Given the description of an element on the screen output the (x, y) to click on. 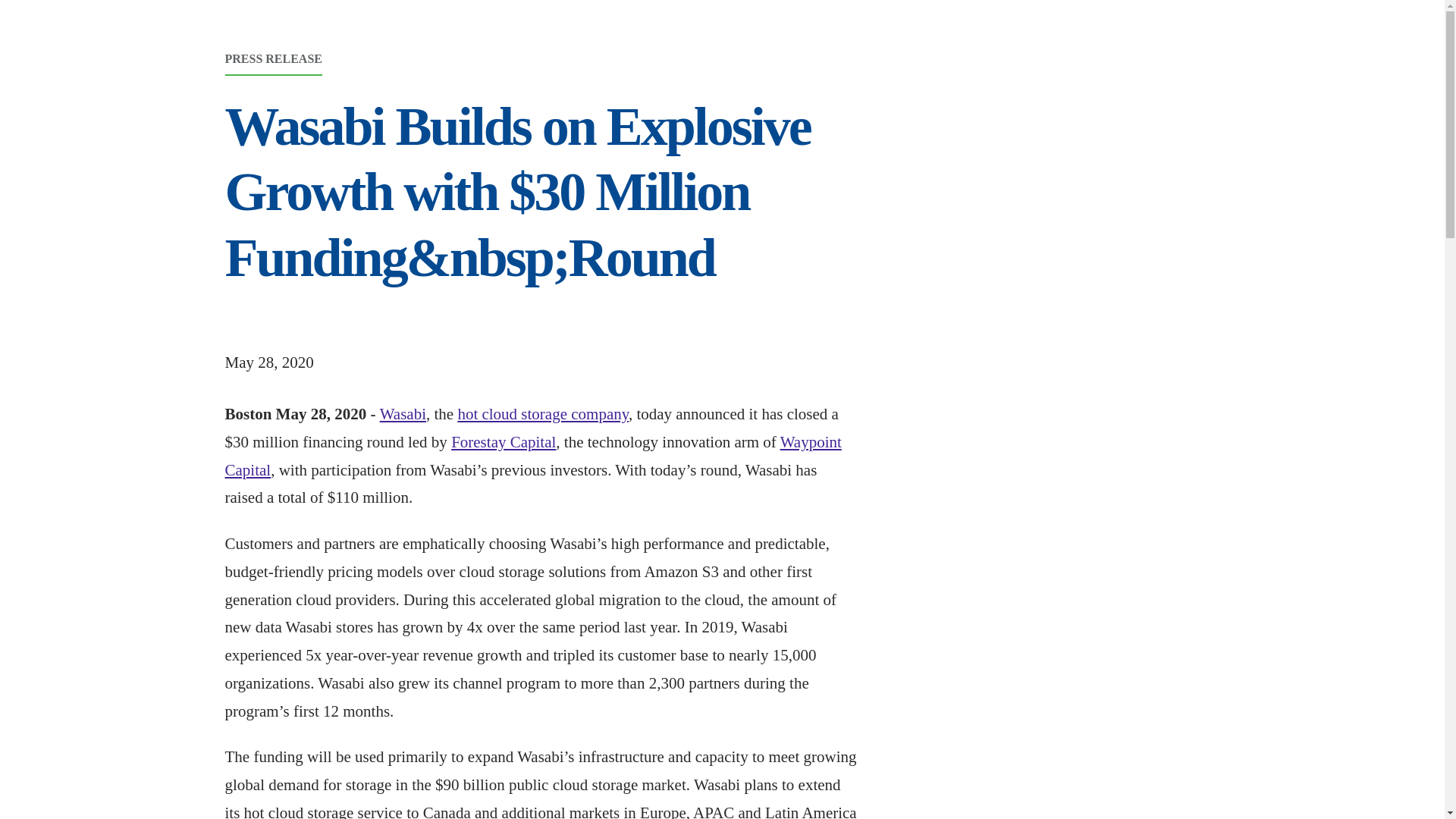
Waypoint Capital (532, 456)
Forestay Capital (503, 442)
hot cloud storage company (542, 413)
Wasabi (403, 413)
